Given the description of an element on the screen output the (x, y) to click on. 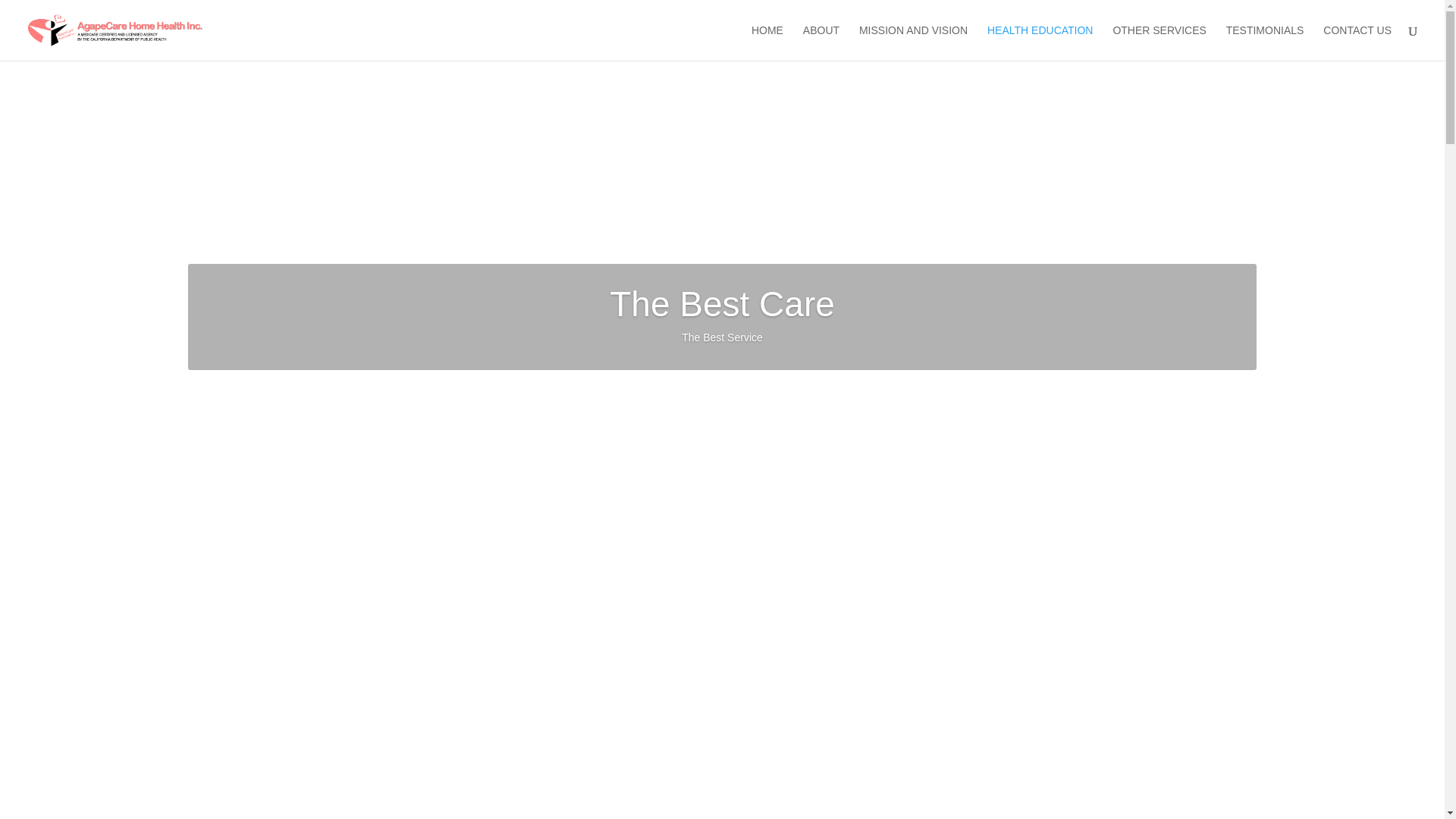
OTHER SERVICES (1158, 42)
HEALTH EDUCATION (1040, 42)
MISSION AND VISION (913, 42)
CONTACT US (1357, 42)
HOME (767, 42)
ABOUT (821, 42)
TESTIMONIALS (1264, 42)
